Given the description of an element on the screen output the (x, y) to click on. 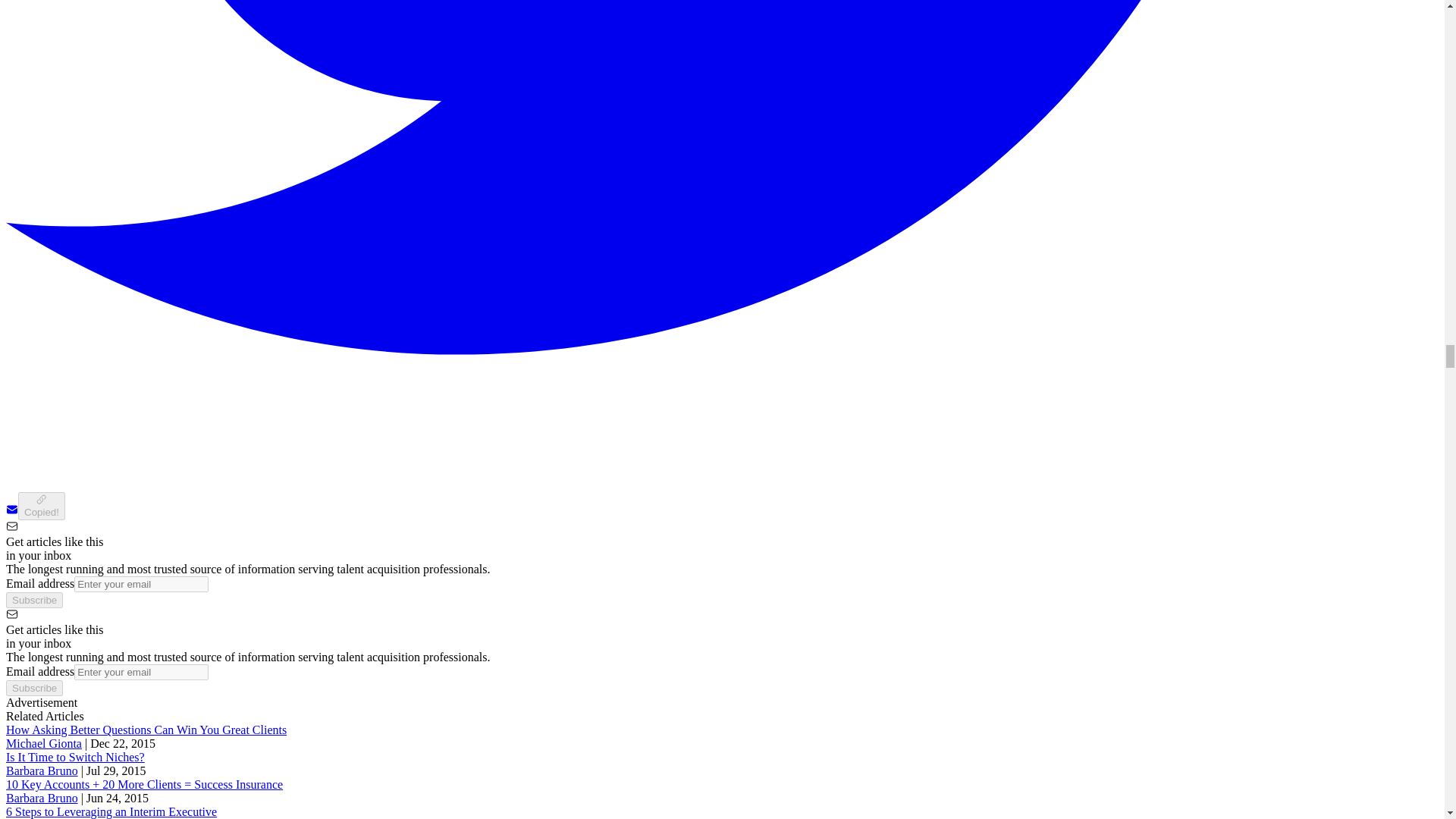
Subscribe (33, 688)
Michael Gionta (43, 743)
Barbara Bruno (41, 797)
How Asking Better Questions Can Win You Great Clients (145, 729)
Copied! (41, 506)
Subscribe (33, 600)
Is It Time to Switch Niches? (74, 757)
Barbara Bruno (41, 770)
6 Steps to Leveraging an Interim Executive (110, 811)
